Given the description of an element on the screen output the (x, y) to click on. 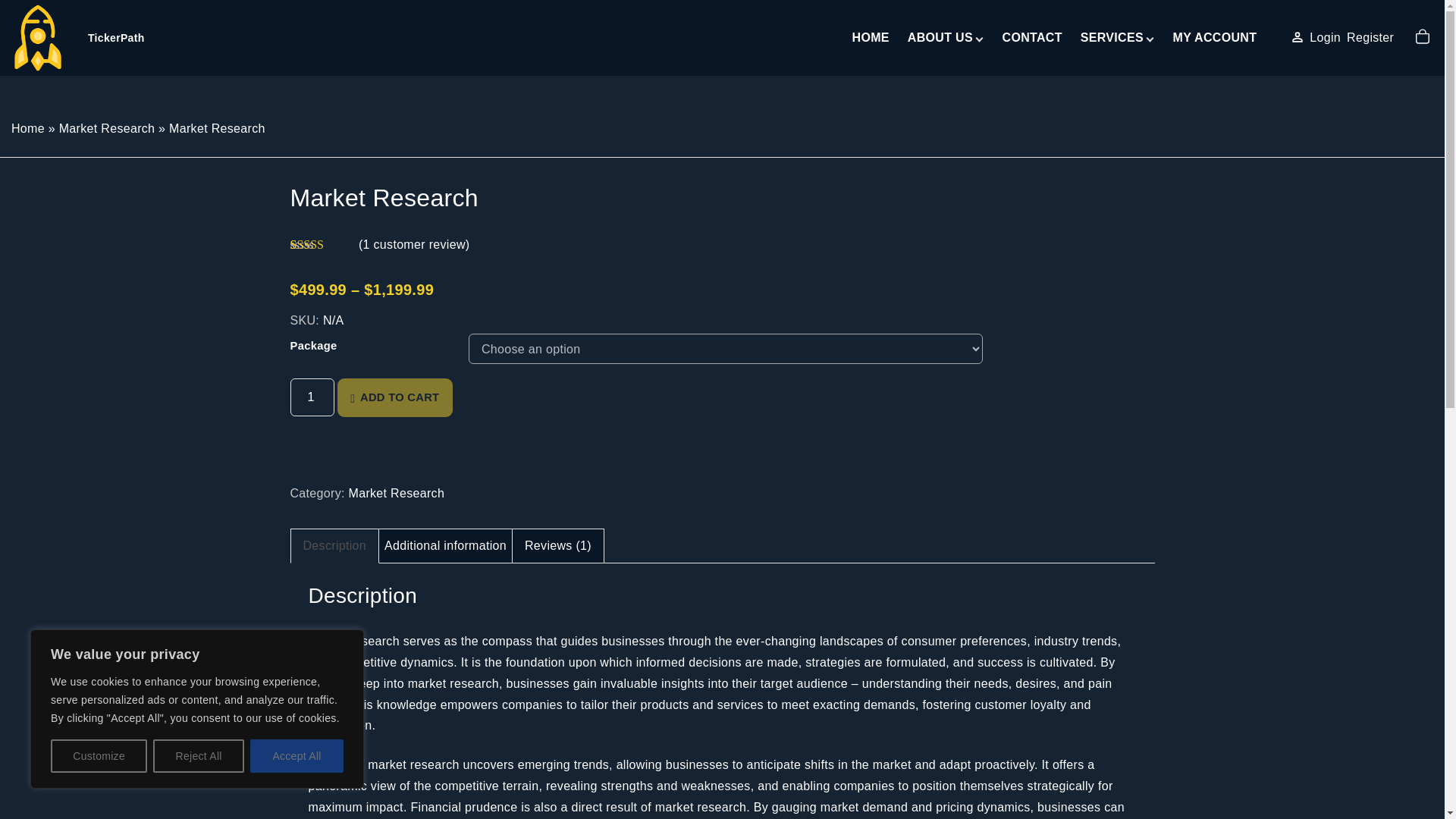
Description (334, 545)
HOME (870, 37)
MY ACCOUNT (1215, 37)
ABOUT US (940, 37)
1 (311, 397)
SERVICES (1112, 37)
Login (1324, 37)
ADD TO CART (394, 397)
Home (28, 128)
Accept All (296, 756)
Register (1369, 37)
PayPal (721, 462)
Reject All (198, 756)
Customize (98, 756)
TickerPath (78, 38)
